Given the description of an element on the screen output the (x, y) to click on. 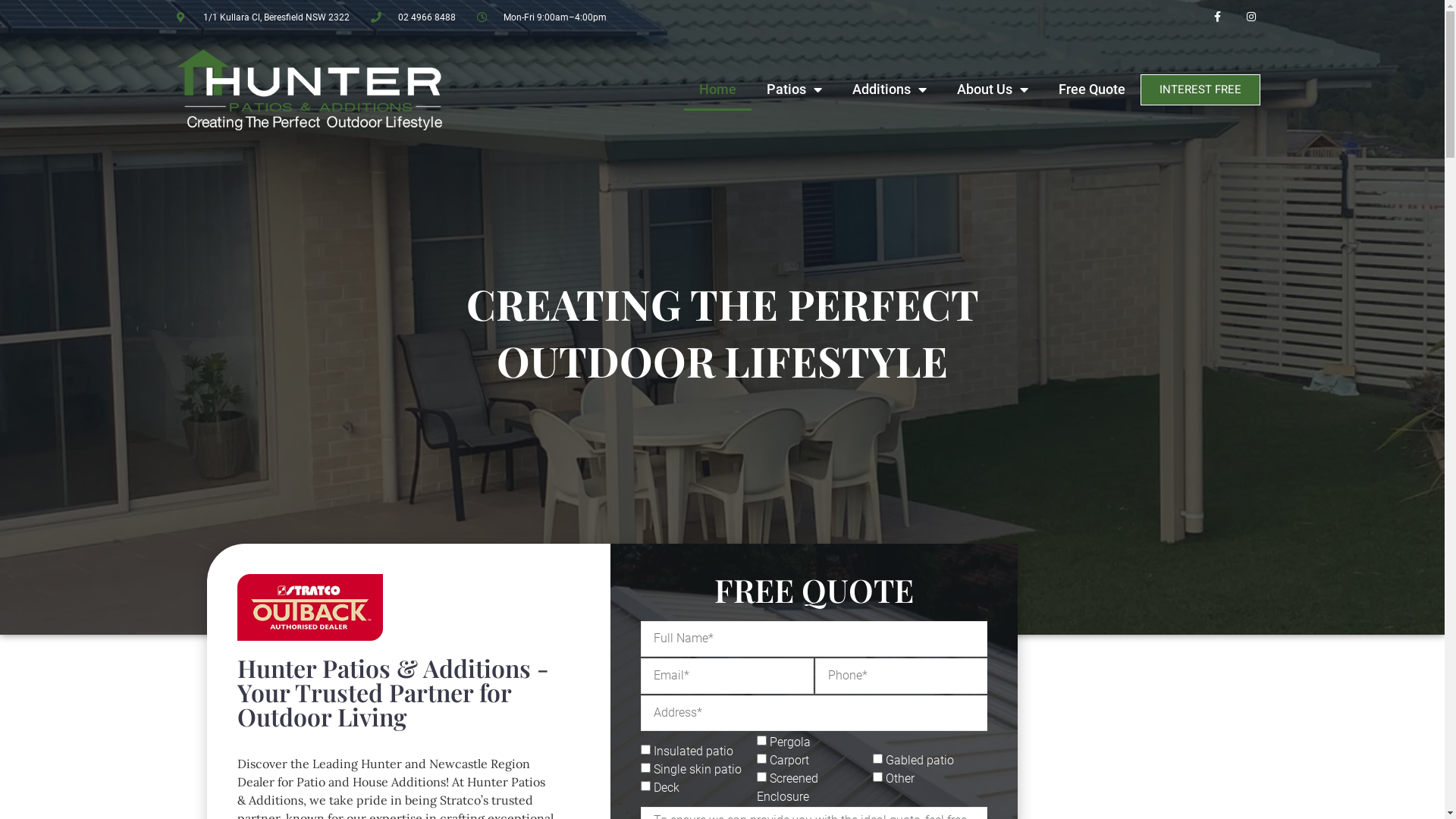
INTEREST FREE Element type: text (1200, 89)
About Us Element type: text (992, 89)
Home Element type: text (717, 89)
Free Quote Element type: text (1091, 89)
02 4966 8488 Element type: text (412, 17)
Patios Element type: text (794, 89)
Additions Element type: text (889, 89)
